Given the description of an element on the screen output the (x, y) to click on. 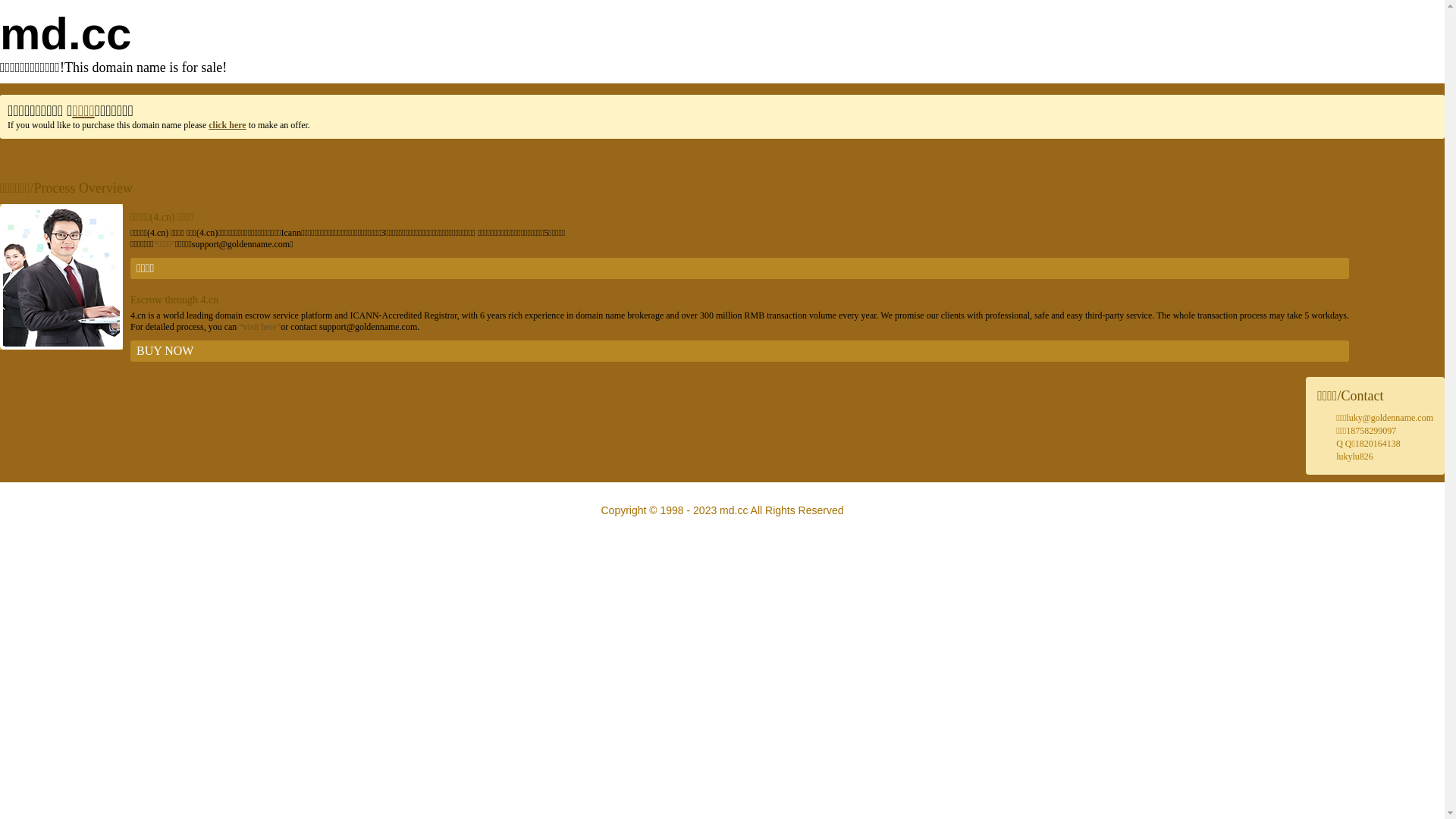
BUY NOW Element type: text (739, 350)
click here Element type: text (226, 124)
